Given the description of an element on the screen output the (x, y) to click on. 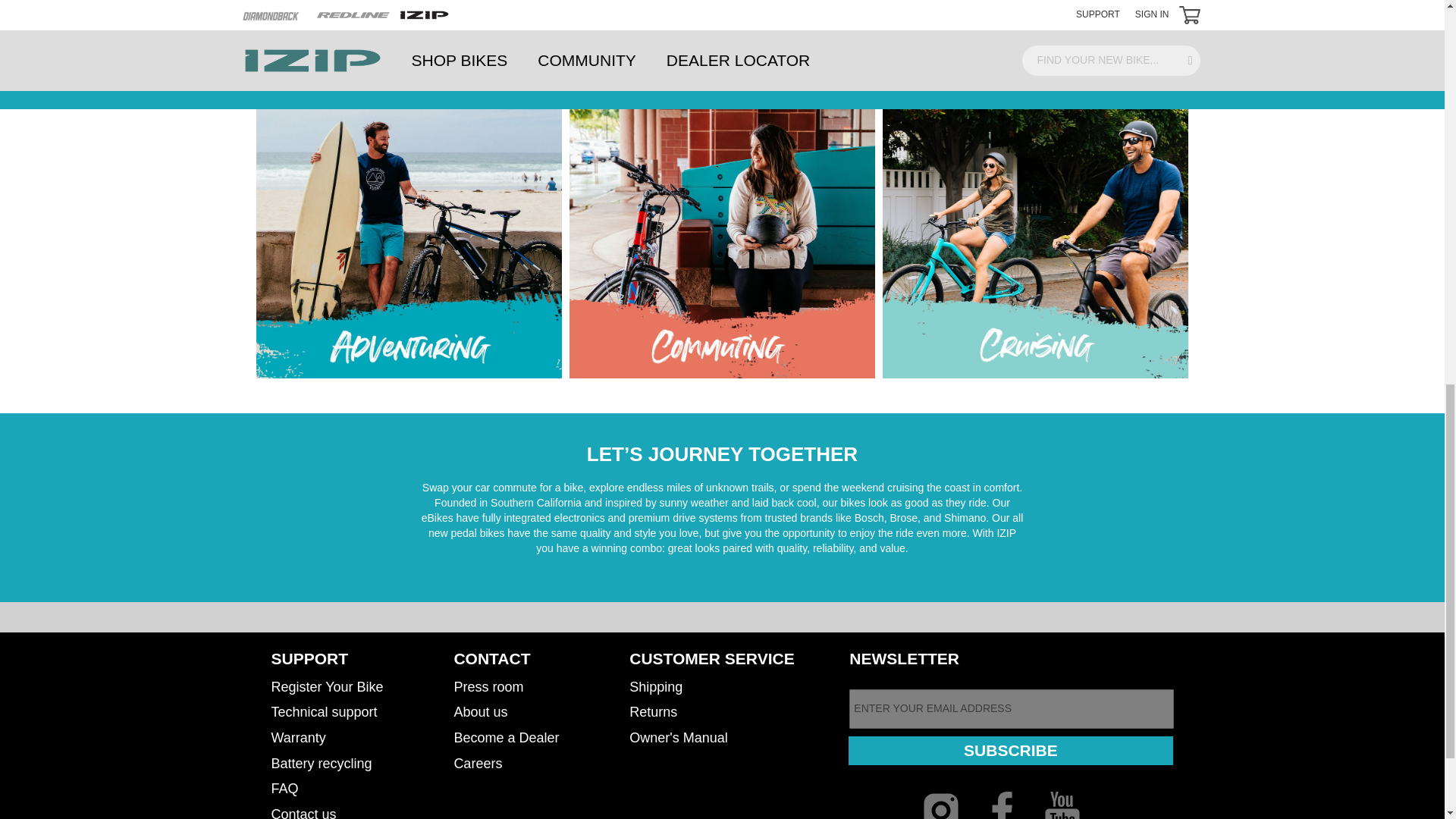
FAQ (284, 788)
Technical support (323, 711)
Register Your Bike (327, 686)
About us (479, 711)
Contact us (303, 809)
CONTACT (490, 658)
Warranty (298, 737)
Subscribe (1010, 750)
Become a Dealer (505, 737)
Battery recycling (321, 763)
